Given the description of an element on the screen output the (x, y) to click on. 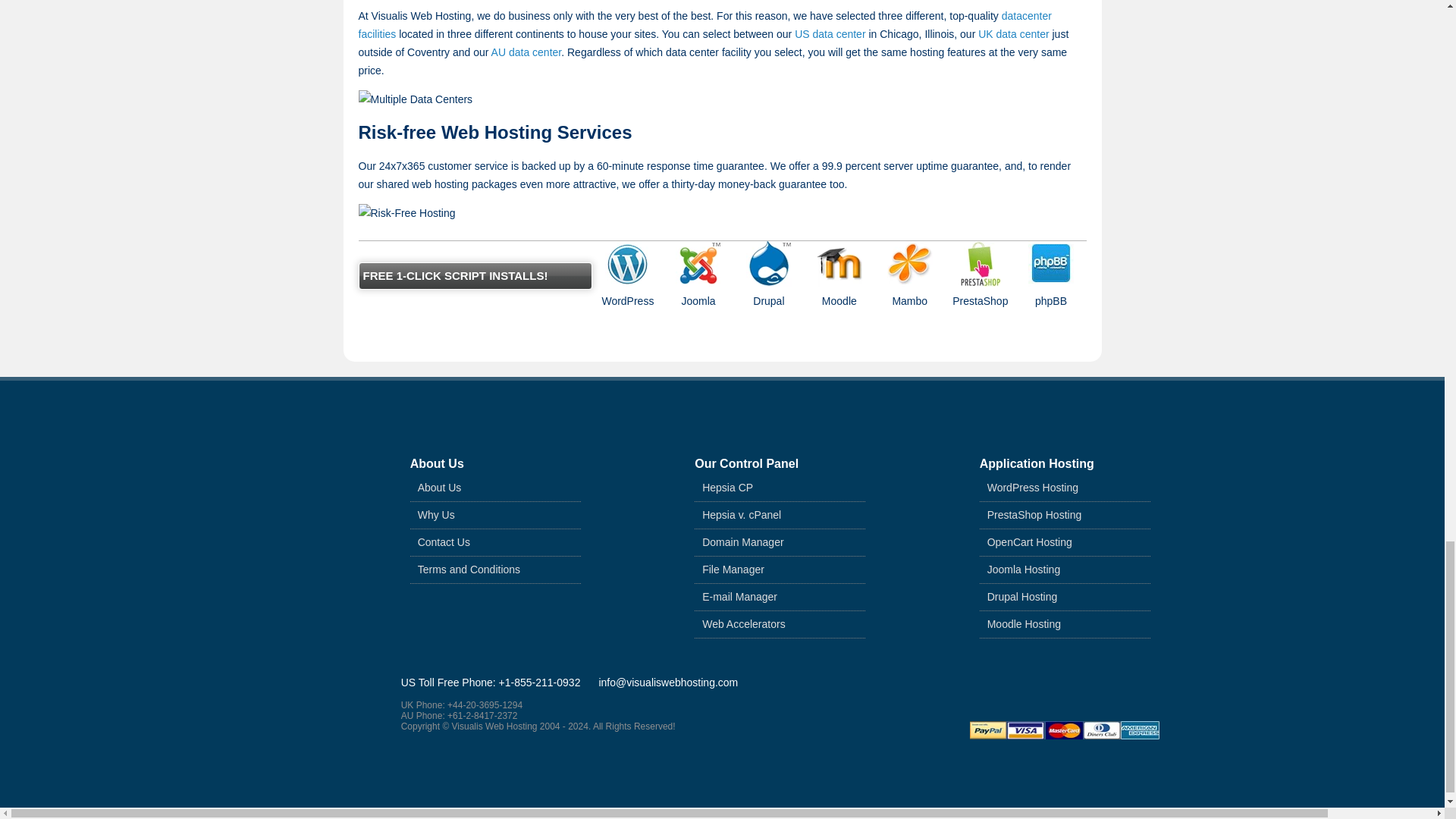
Joomla (697, 263)
Risk-Free Hosting (406, 212)
Why Us (435, 514)
Hepsia CP (726, 487)
Domain Manager (742, 541)
datacenter facilities (704, 24)
FREE 1-CLICK SCRIPT INSTALLS! (475, 275)
Moodle (838, 263)
Mambo (909, 263)
US data center (829, 33)
AU data center (527, 51)
Hepsia v. cPanel (740, 514)
Drupal (768, 263)
UK data center (1013, 33)
phpBB (1050, 263)
